Given the description of an element on the screen output the (x, y) to click on. 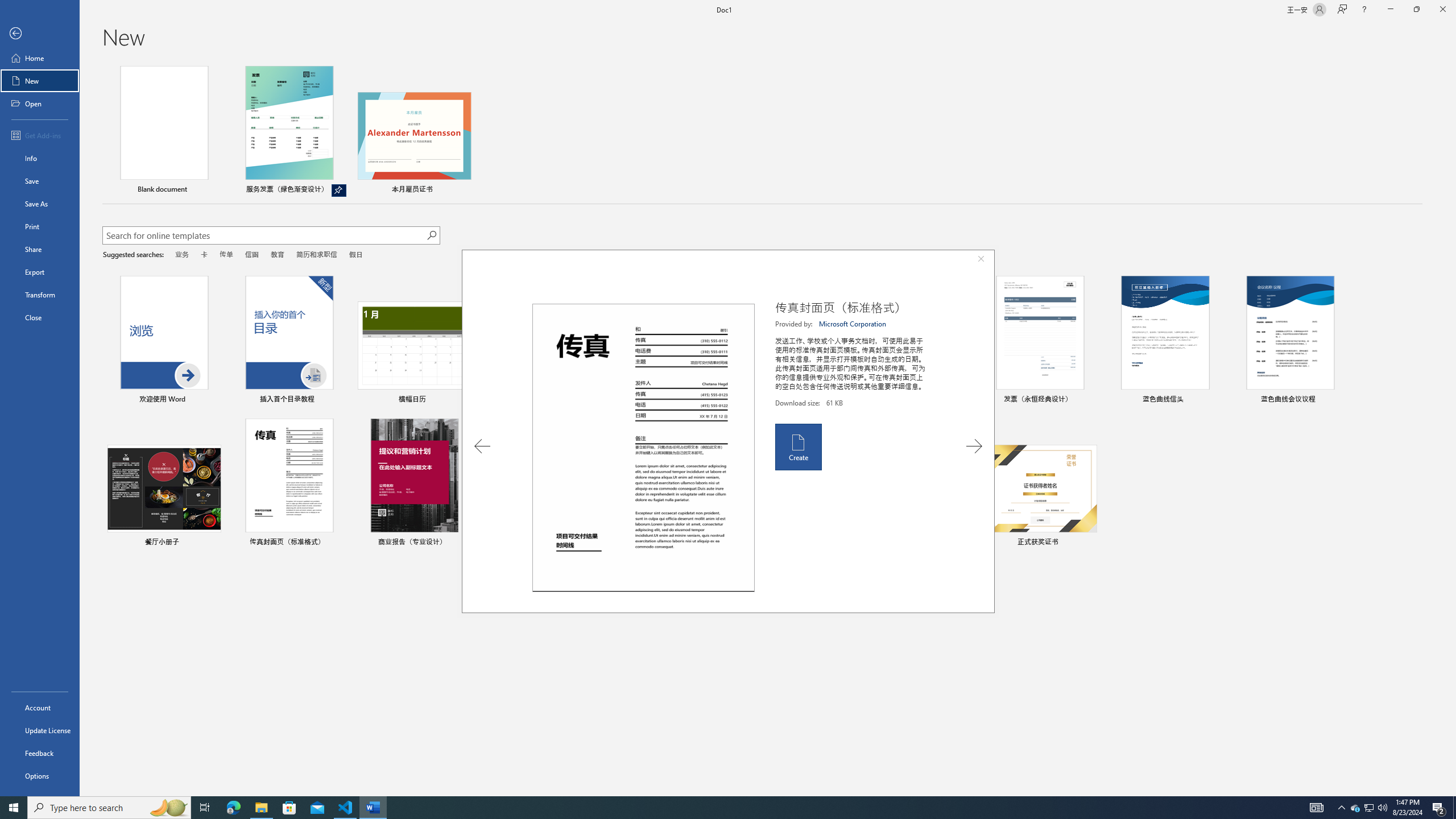
Search for online templates (264, 237)
Update License (40, 730)
Start searching (431, 235)
Unpin from list (338, 190)
Next Template (974, 446)
Info (40, 157)
